Given the description of an element on the screen output the (x, y) to click on. 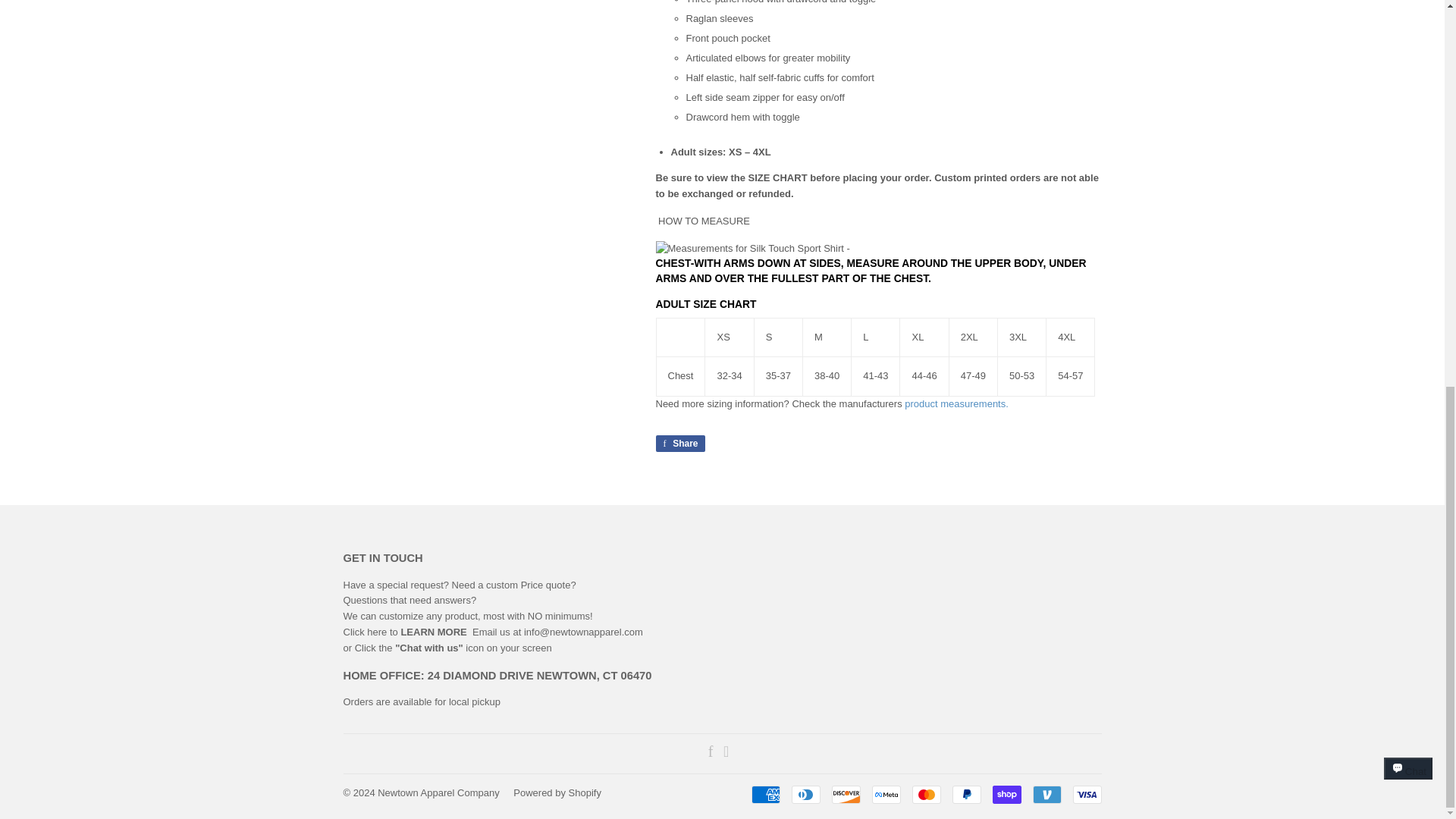
Share on Facebook (679, 443)
American Express (764, 794)
Contact (583, 632)
How it works (432, 632)
PayPal (966, 794)
Diners Club (806, 794)
Spirit Wear (955, 403)
Venmo (1046, 794)
Discover (845, 794)
Visa (1085, 794)
